Given the description of an element on the screen output the (x, y) to click on. 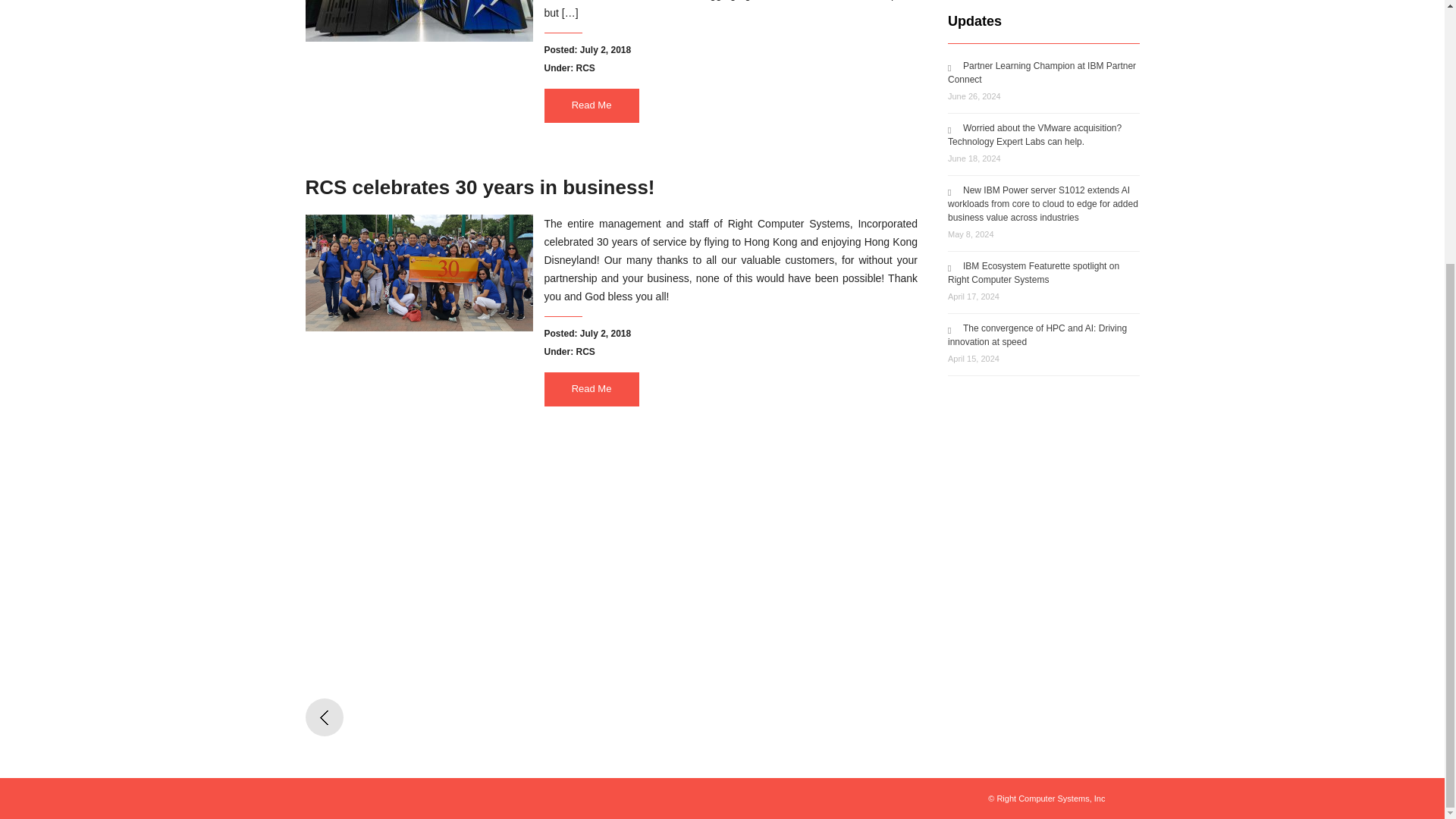
Read Me (591, 105)
Read Me (591, 389)
IBM Ecosystem Featurette spotlight on Right Computer Systems (1033, 273)
Partner Learning Champion at IBM Partner Connect (1041, 72)
RCS (585, 68)
RCS celebrates 30 years in business! (478, 187)
The convergence of HPC and AI: Driving innovation at speed (1036, 334)
RCS (585, 351)
